Given the description of an element on the screen output the (x, y) to click on. 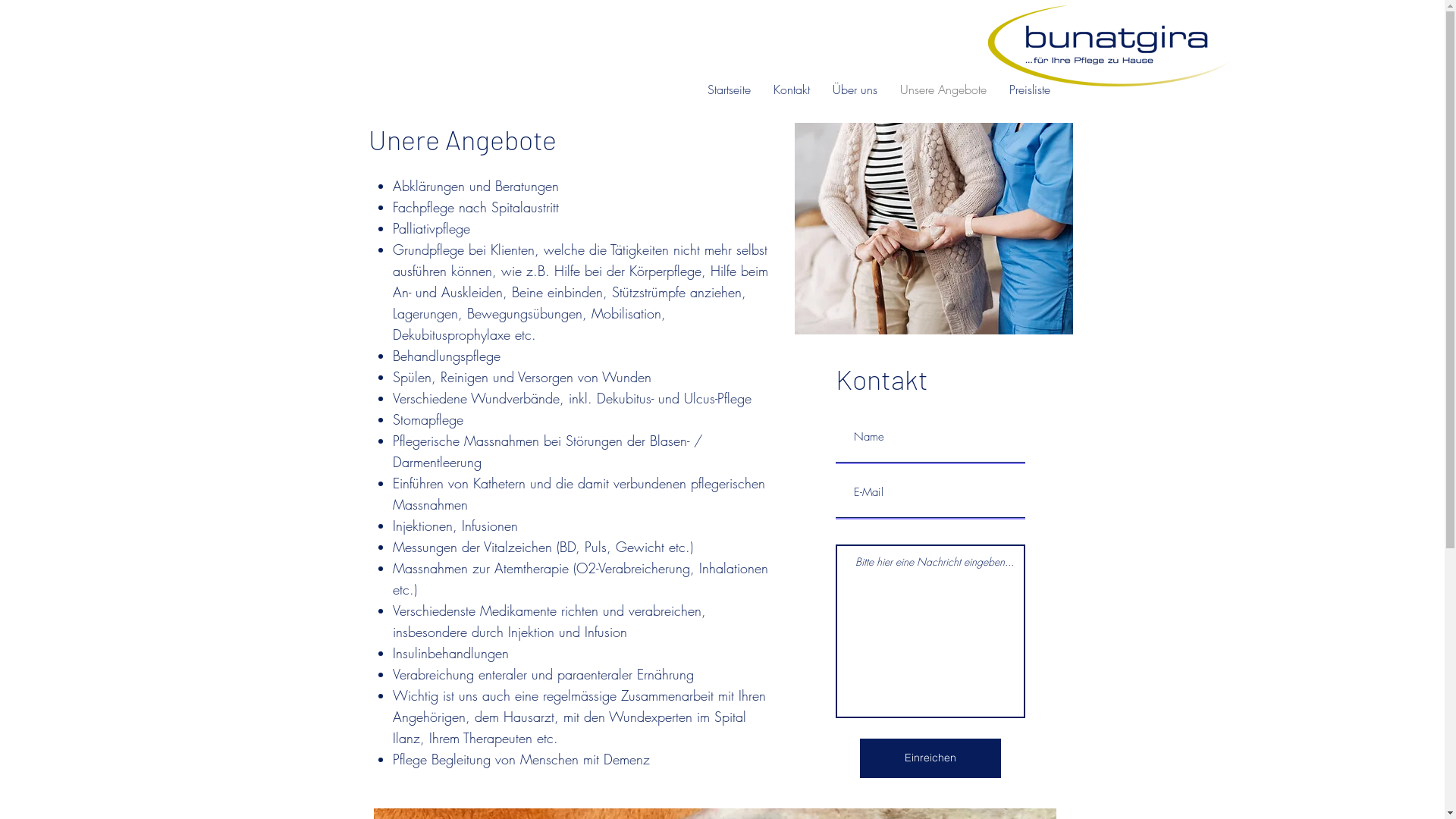
Kontakt Element type: text (791, 89)
Preisliste Element type: text (1029, 89)
Unsere Angebote Element type: text (942, 89)
Einreichen Element type: text (930, 758)
Startseite Element type: text (729, 89)
